Given the description of an element on the screen output the (x, y) to click on. 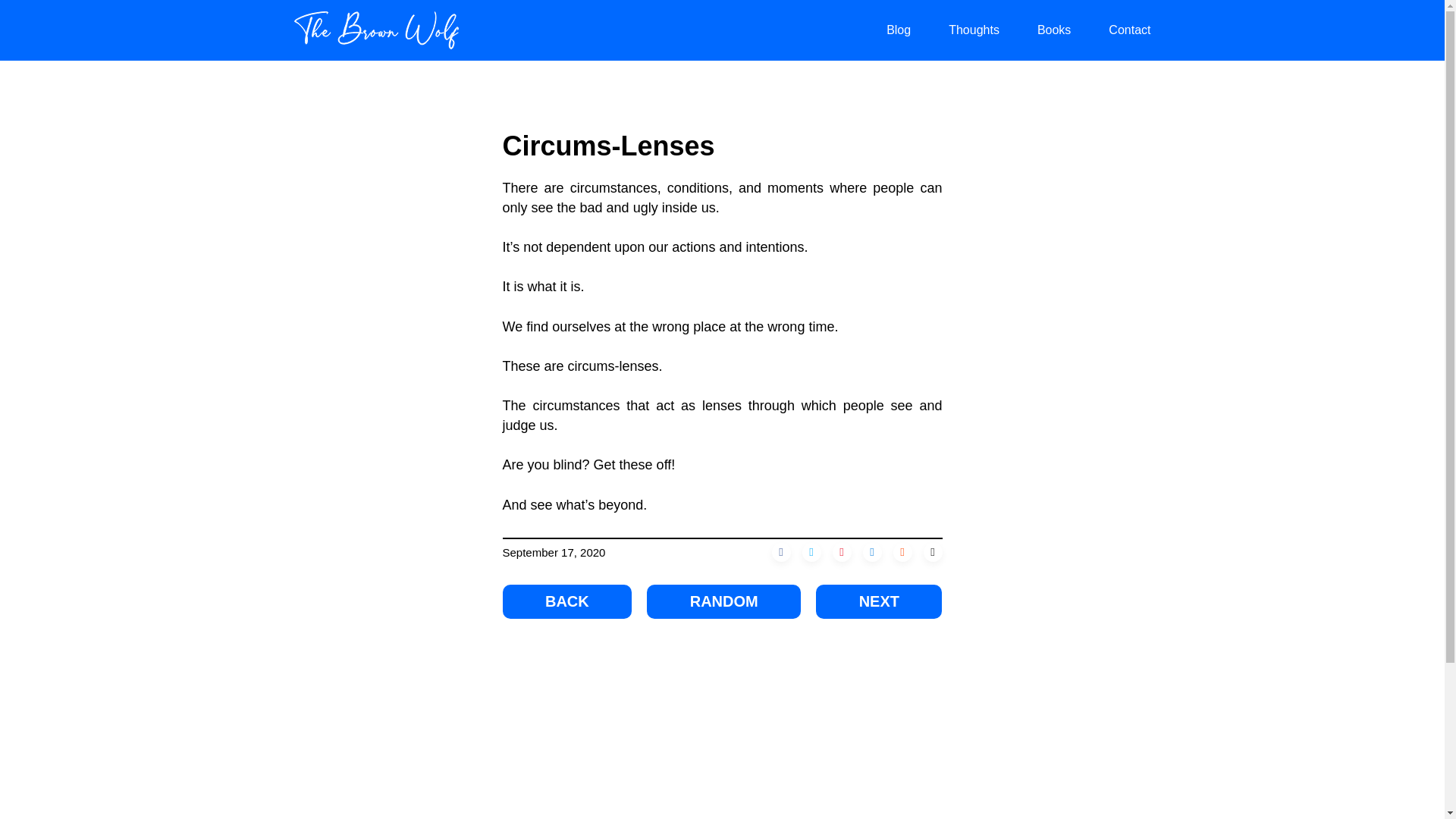
NEXT (878, 601)
BACK (566, 601)
Blog (898, 29)
RANDOM (723, 601)
Thoughts (973, 29)
Books (1053, 29)
Contact (1129, 29)
